Given the description of an element on the screen output the (x, y) to click on. 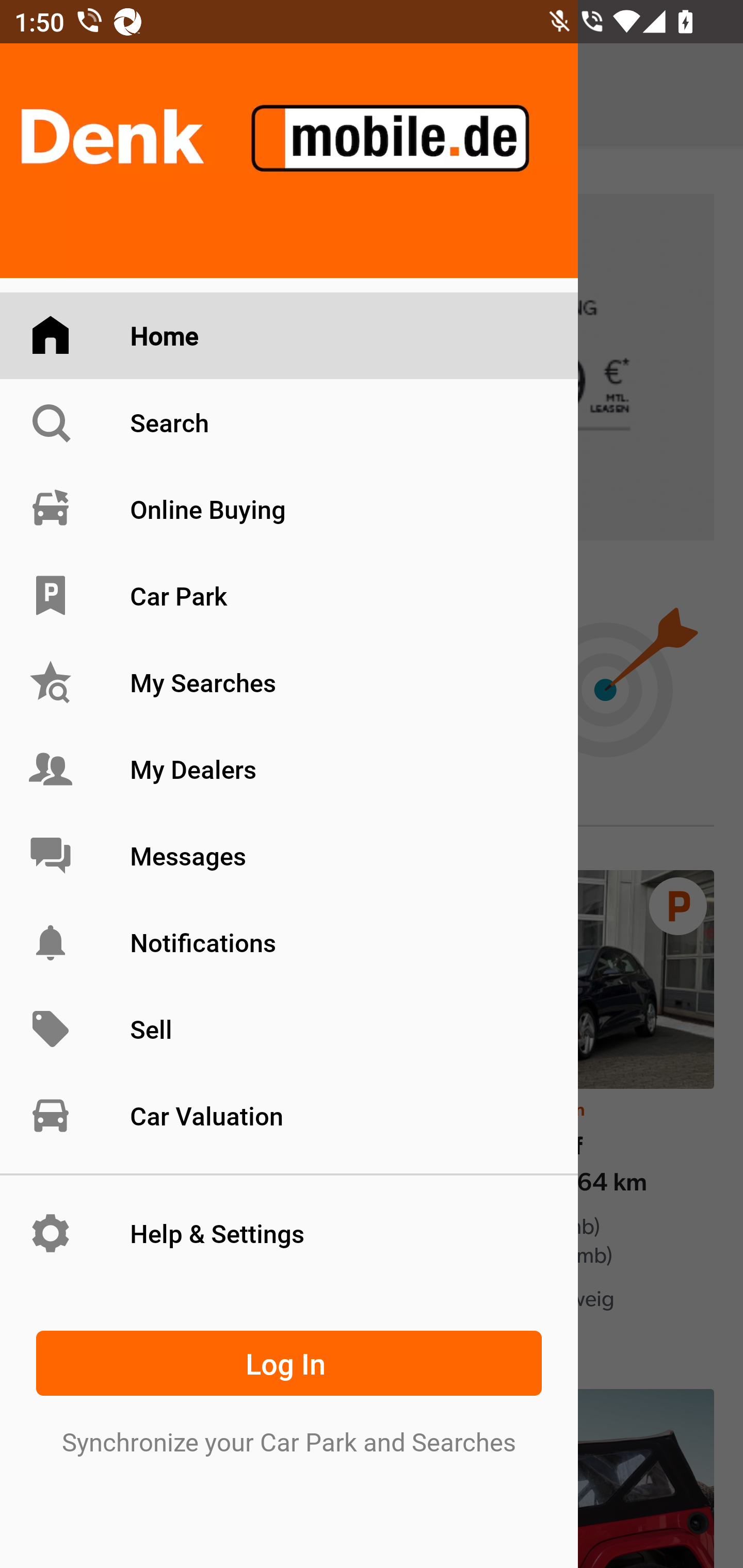
Home (289, 336)
Search (289, 422)
Online Buying (289, 508)
Car Park (289, 595)
My Searches (289, 682)
My Dealers (289, 768)
Messages (289, 855)
Notifications (289, 942)
Sell (289, 1029)
Car Valuation (289, 1115)
Help & Settings (289, 1233)
Log In Synchronize your Car Park and Searches (289, 1388)
Log In (288, 1363)
